Given the description of an element on the screen output the (x, y) to click on. 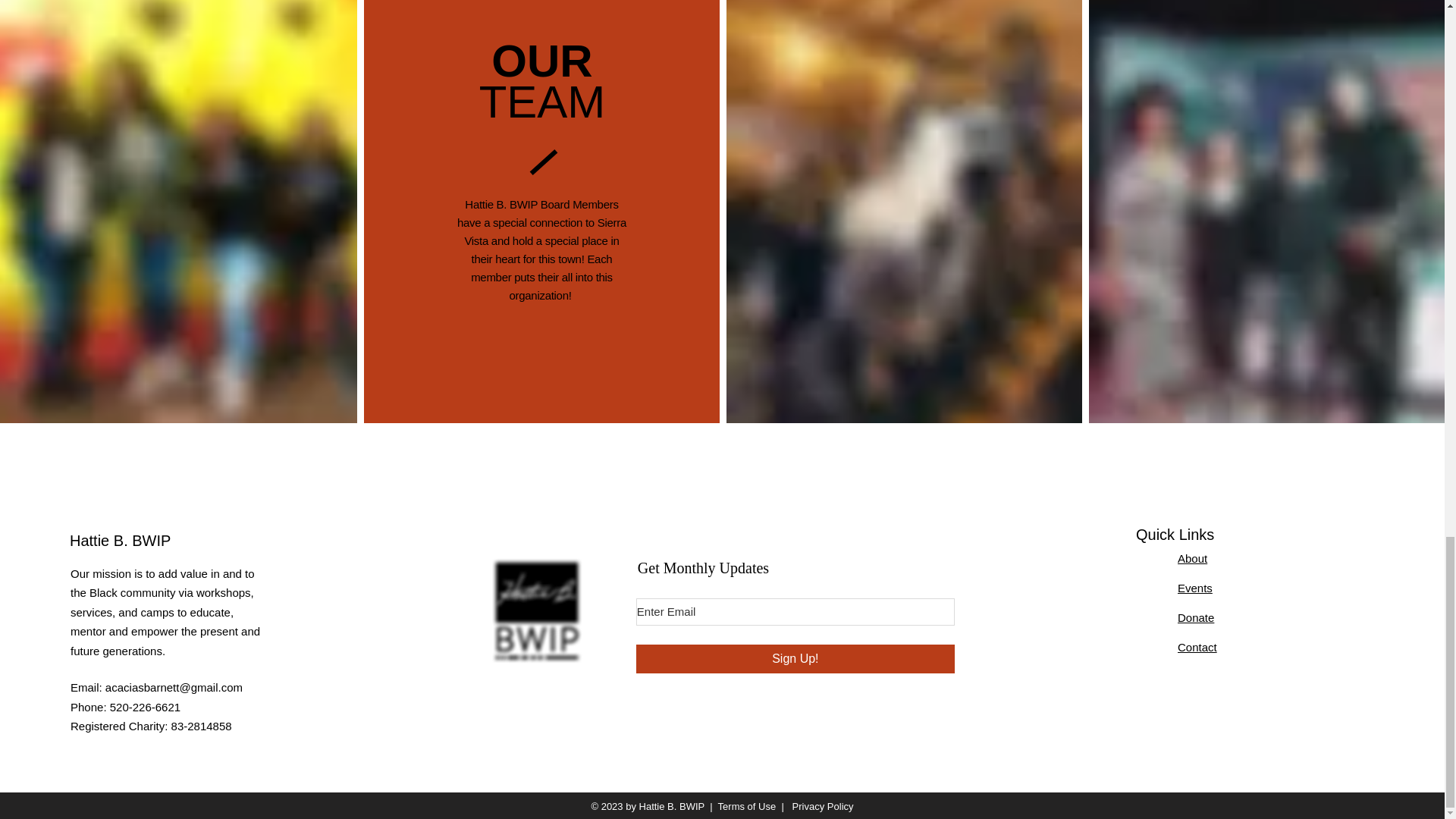
Contact (1197, 646)
 Privacy Policy (821, 806)
Events (1194, 587)
Sign Up! (795, 658)
Terms of Use (746, 806)
Donate (1195, 617)
About (1192, 558)
